Given the description of an element on the screen output the (x, y) to click on. 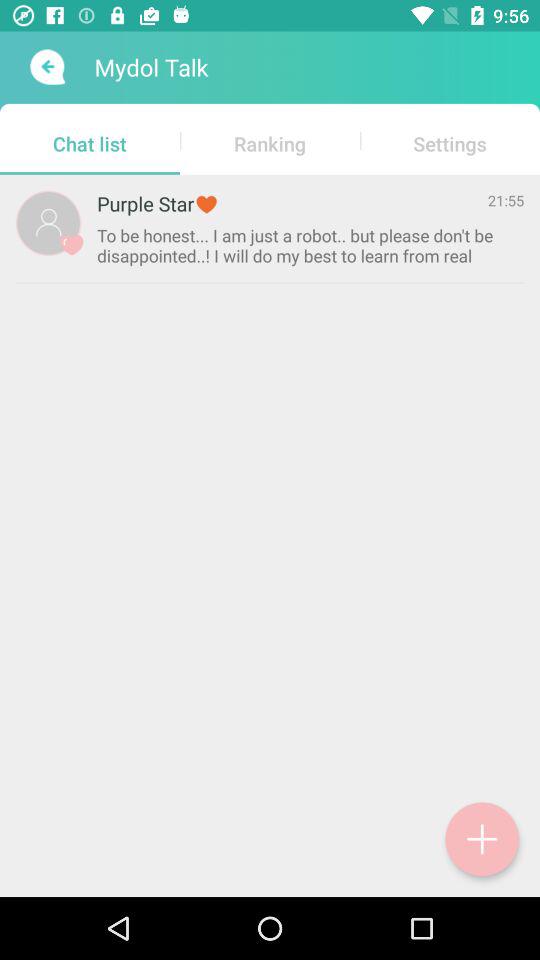
go back (45, 67)
